Given the description of an element on the screen output the (x, y) to click on. 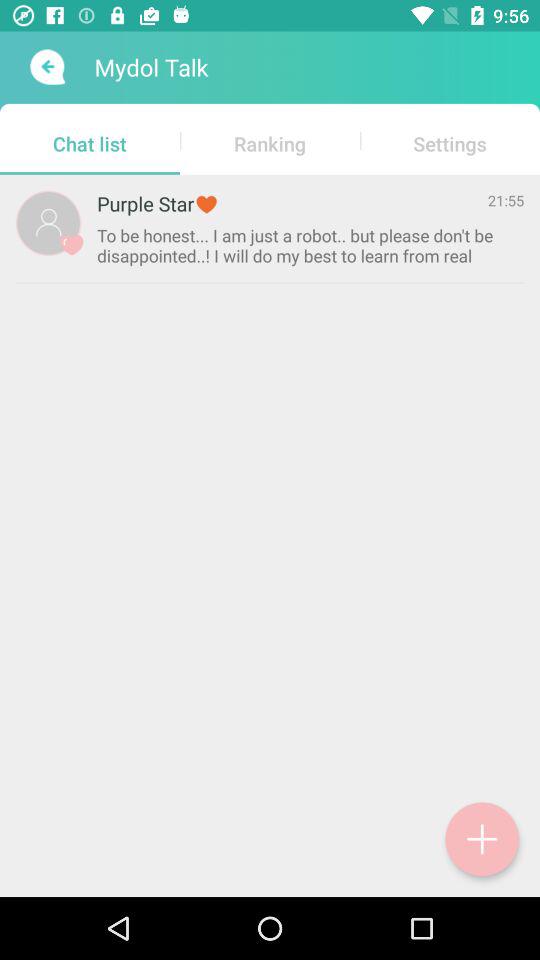
go back (45, 67)
